Given the description of an element on the screen output the (x, y) to click on. 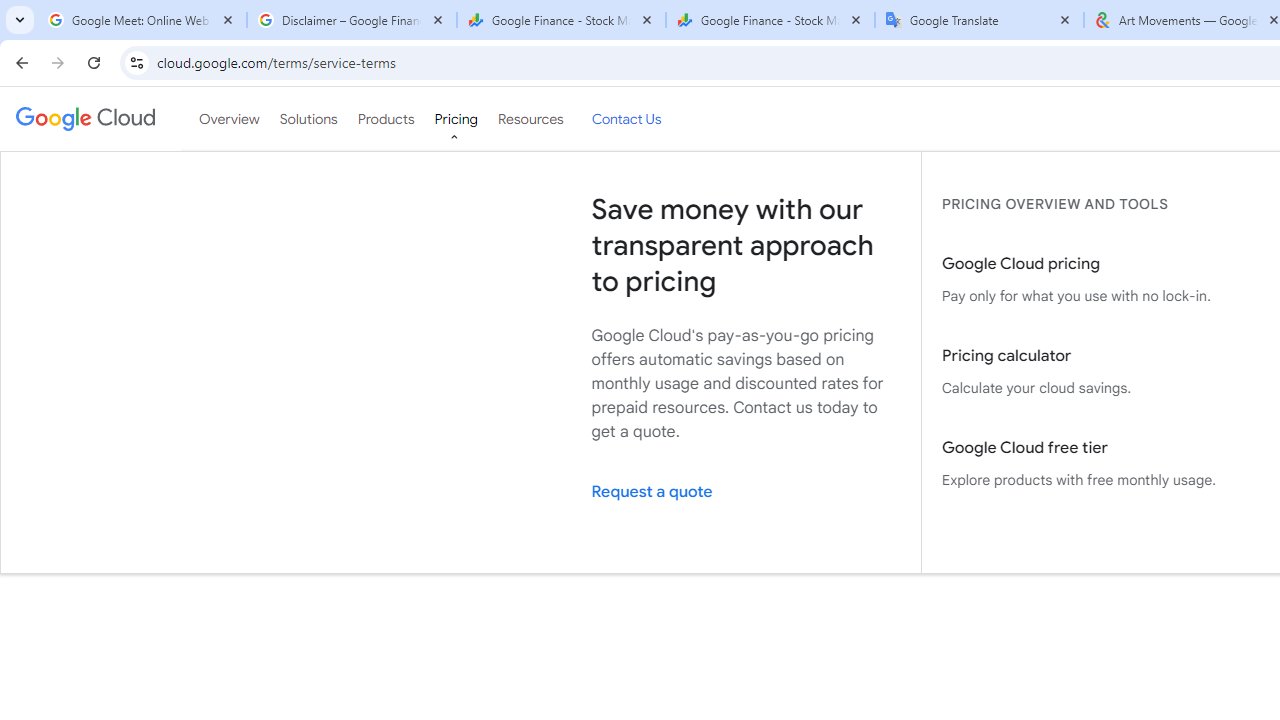
Google Translate (979, 20)
Google Cloud (84, 118)
Request a quote (746, 491)
